Given the description of an element on the screen output the (x, y) to click on. 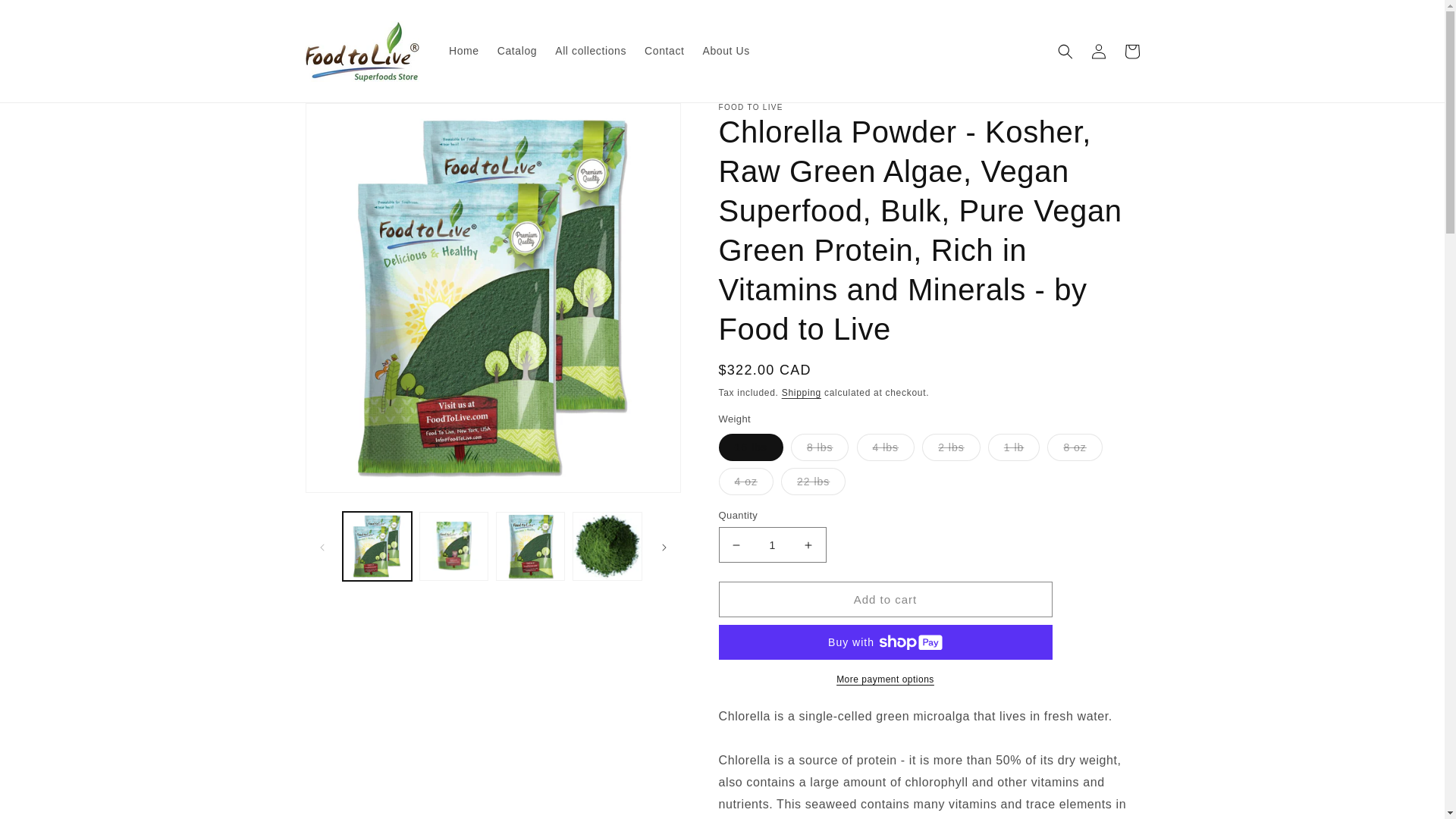
Log in (1098, 51)
Skip to content (45, 17)
1 (773, 544)
About Us (725, 50)
Catalog (516, 50)
Cart (1131, 51)
Skip to product information (350, 120)
All collections (590, 50)
Contact (663, 50)
Home (463, 50)
